Given the description of an element on the screen output the (x, y) to click on. 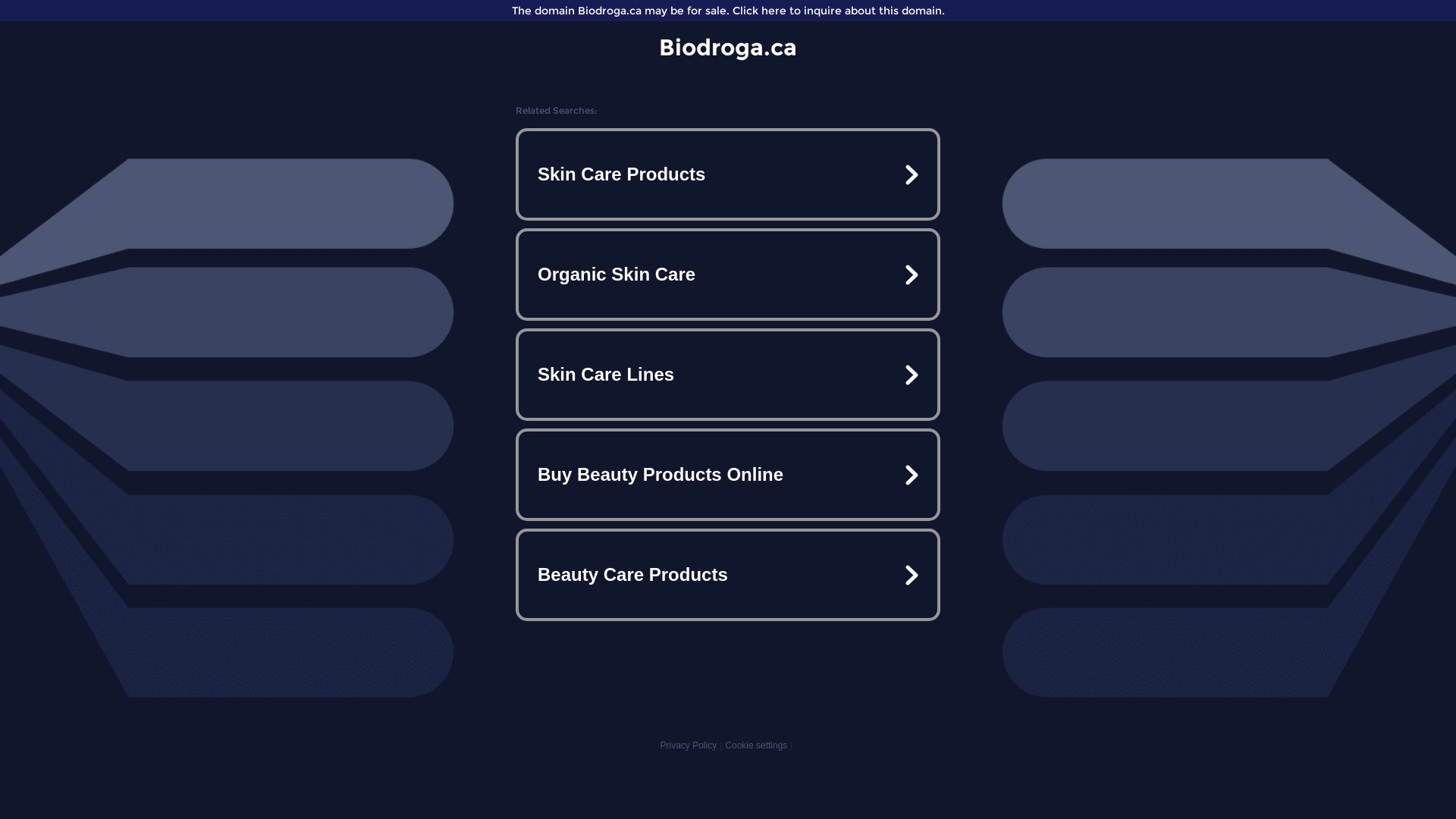
Privacy Policy Element type: text (687, 745)
Skin Care Lines Element type: text (727, 374)
Beauty Care Products Element type: text (727, 574)
Biodroga.ca Element type: text (727, 47)
Organic Skin Care Element type: text (727, 274)
Cookie settings Element type: text (755, 745)
Buy Beauty Products Online Element type: text (727, 474)
Skin Care Products Element type: text (727, 174)
